Given the description of an element on the screen output the (x, y) to click on. 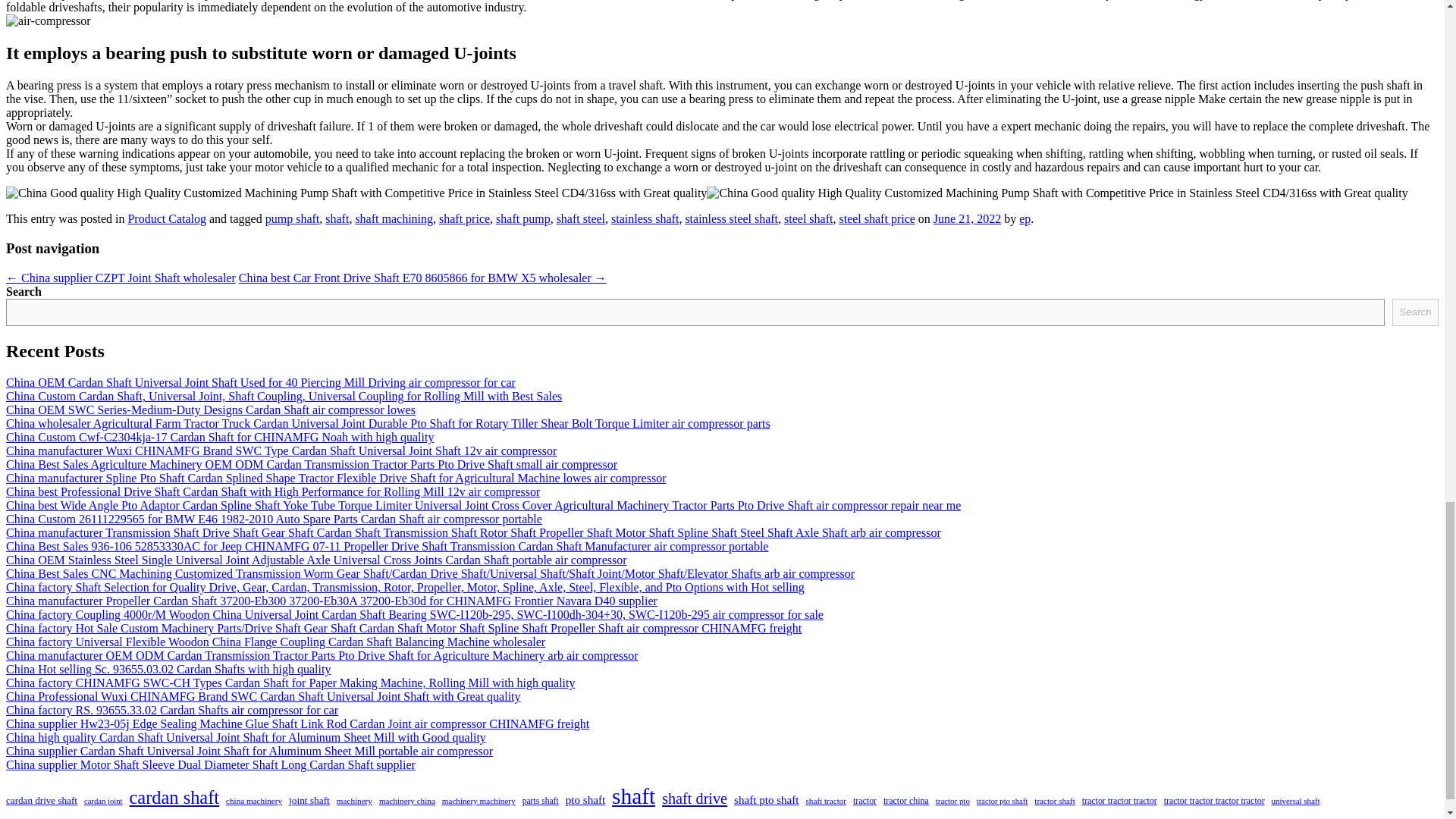
shaft (336, 218)
June 21, 2022 (967, 218)
shaft price (464, 218)
shaft pump (523, 218)
shaft steel (580, 218)
8:49 pm (967, 218)
